Given the description of an element on the screen output the (x, y) to click on. 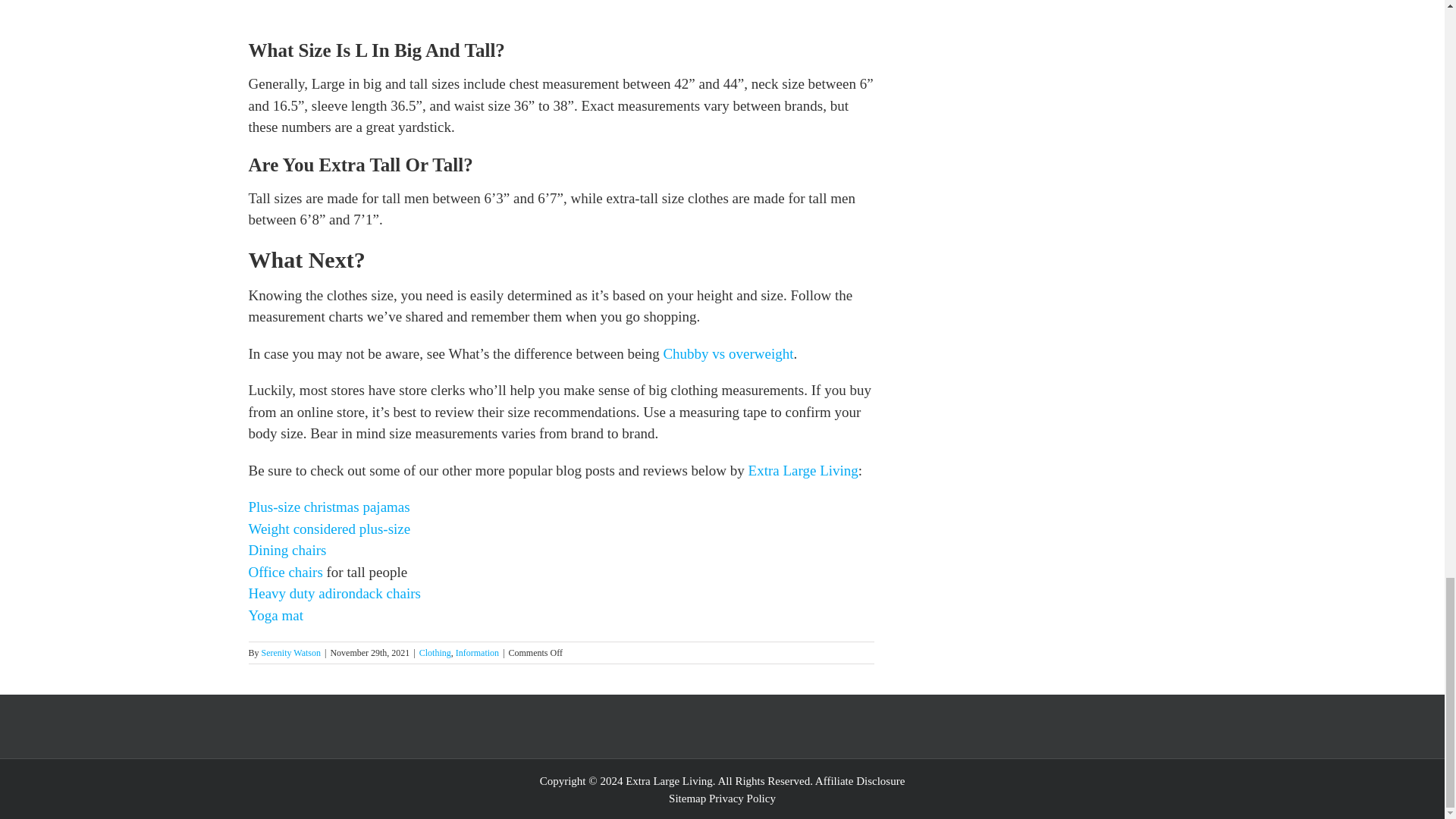
Posts by Serenity Watson (291, 652)
